Given the description of an element on the screen output the (x, y) to click on. 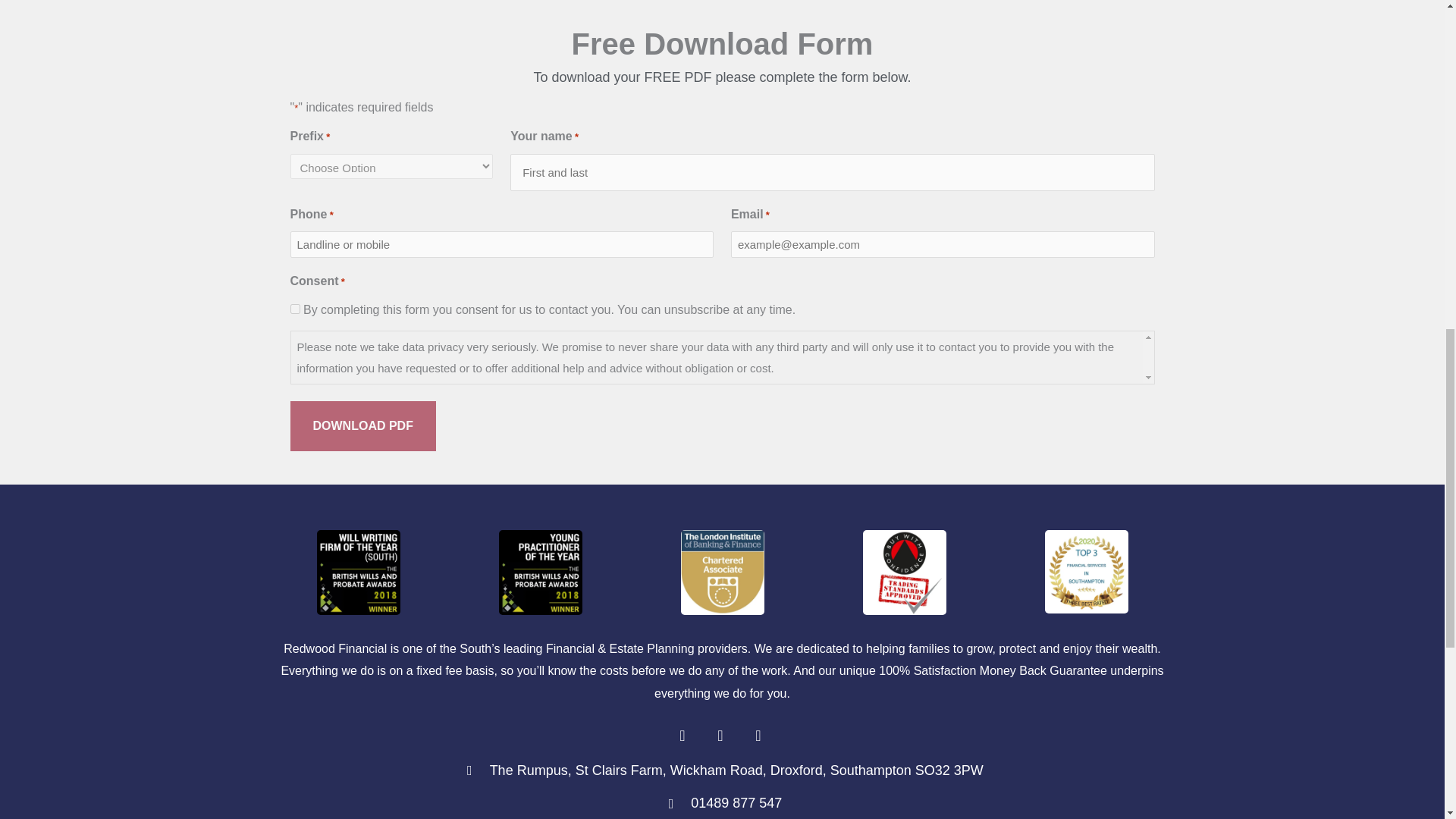
DOWNLOAD PDF (362, 426)
1 (294, 308)
